Given the description of an element on the screen output the (x, y) to click on. 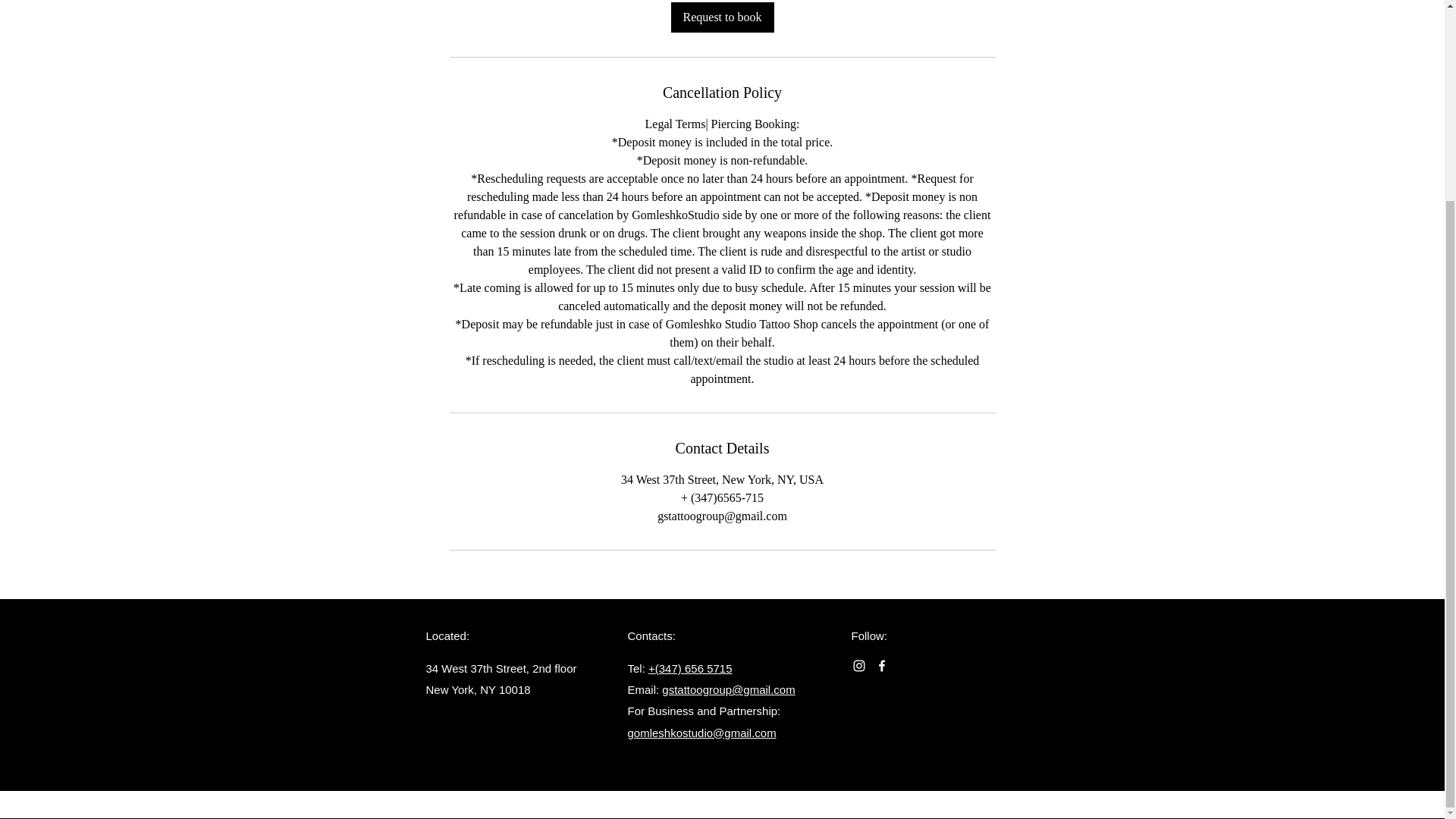
Request to book (721, 17)
